Given the description of an element on the screen output the (x, y) to click on. 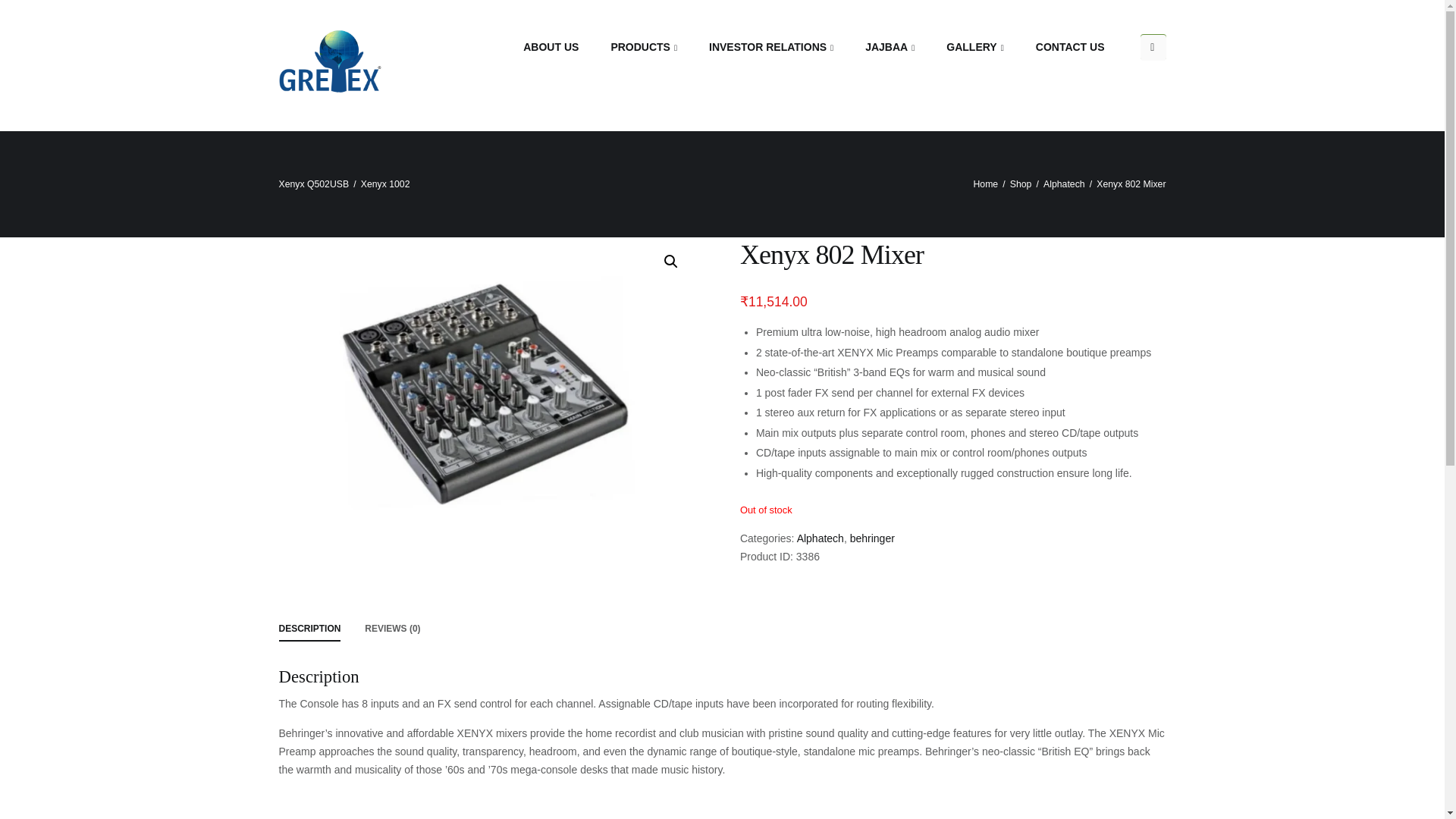
ABOUT US (566, 47)
PRODUCTS (659, 47)
Open search (1153, 47)
